Given the description of an element on the screen output the (x, y) to click on. 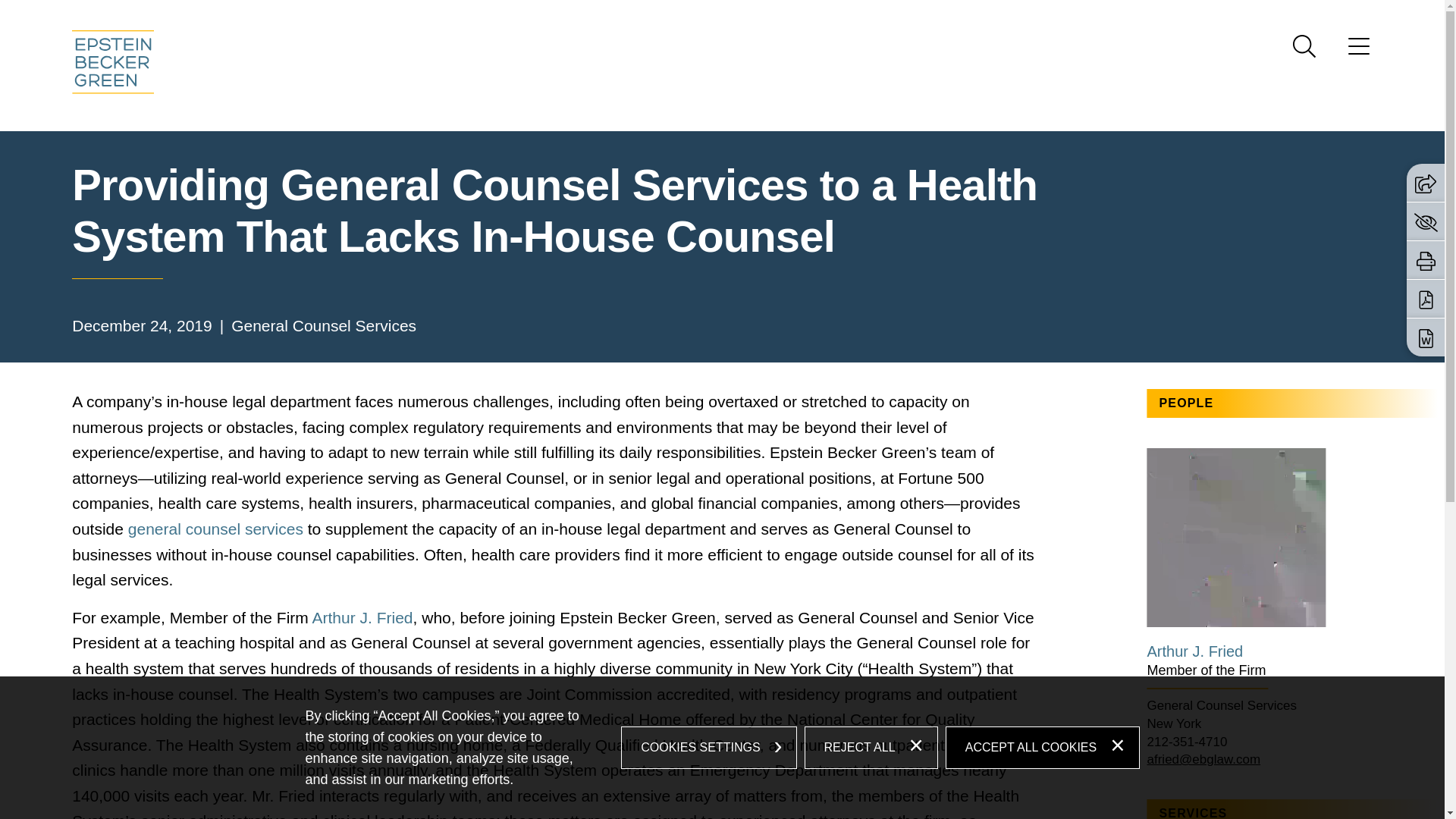
Search (1304, 46)
Share (1425, 182)
Menu (673, 15)
Main Content (666, 15)
Print (1425, 261)
Main Menu (673, 15)
Go to the privacy settings (1425, 221)
Share (1425, 183)
Menu (1359, 51)
